Given the description of an element on the screen output the (x, y) to click on. 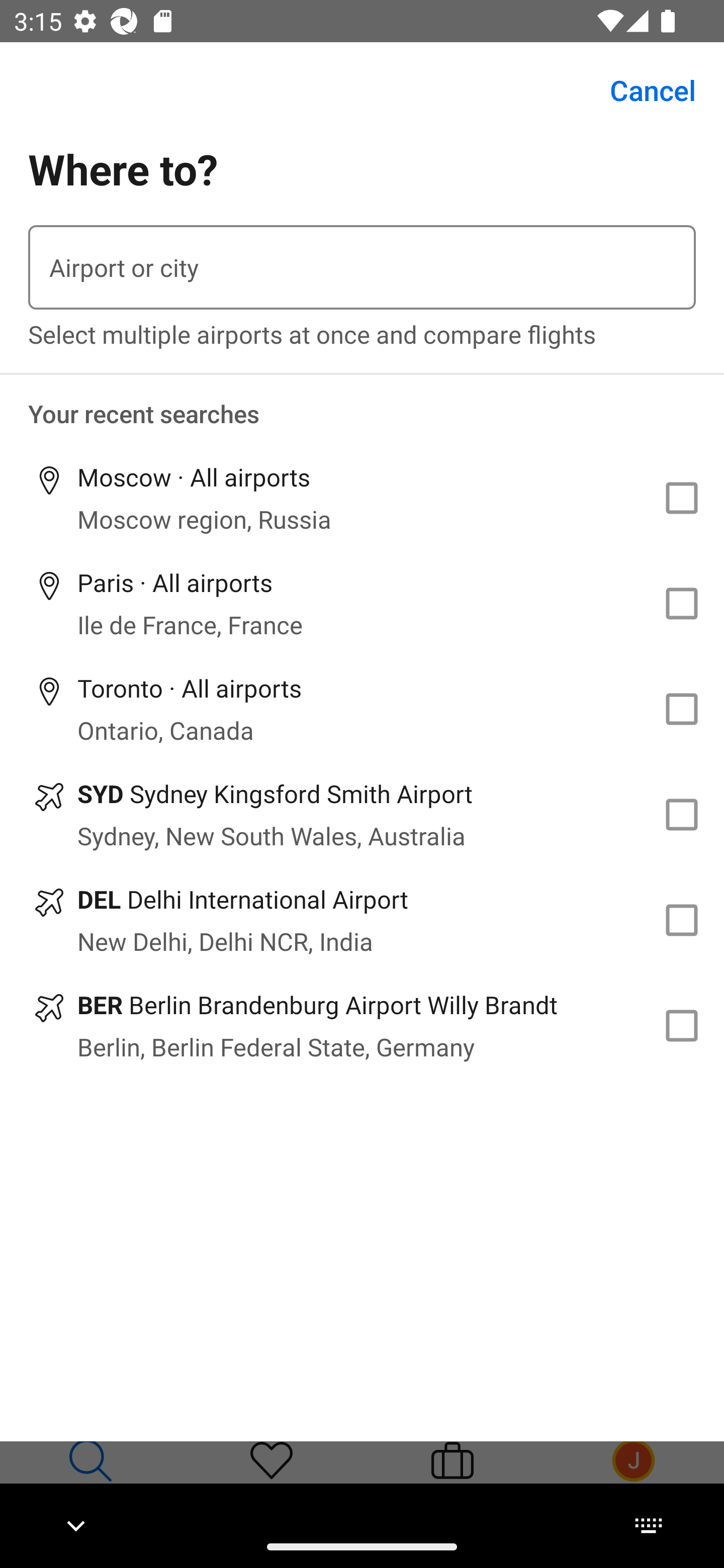
Cancel (641, 90)
Airport or city (361, 266)
Moscow · All airports Moscow region, Russia (362, 497)
Paris · All airports Ile de France, France (362, 603)
Toronto · All airports Ontario, Canada (362, 709)
